Given the description of an element on the screen output the (x, y) to click on. 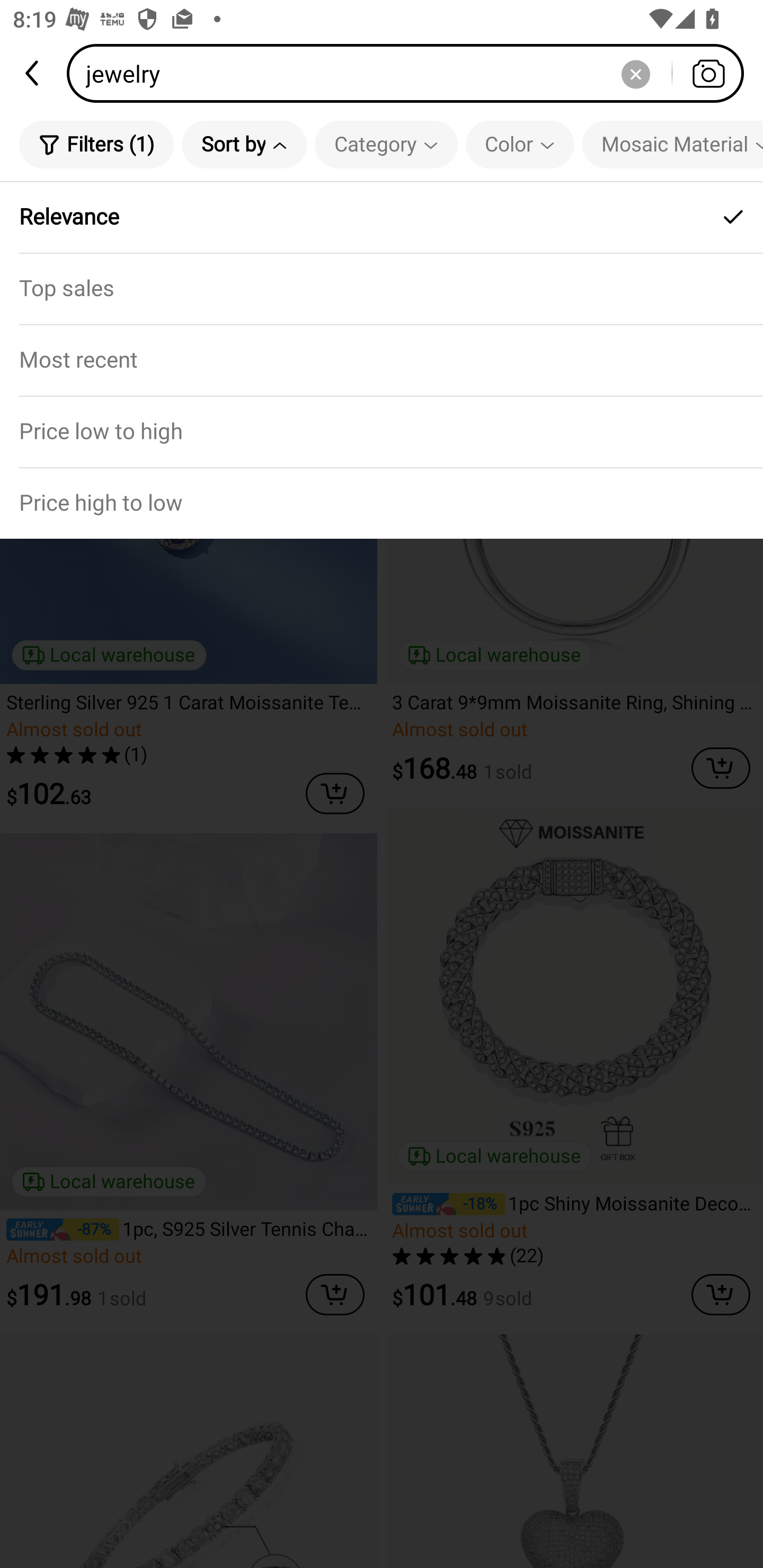
back (33, 72)
jewelry (411, 73)
Delete search history (635, 73)
Search by photo (708, 73)
Filters (1) (96, 143)
Sort by (243, 143)
Category (385, 143)
Color (519, 143)
Mosaic Material (672, 143)
Relevance (381, 216)
Top sales (381, 288)
Most recent (381, 359)
Price low to high (381, 431)
Price high to low (381, 503)
